Given the description of an element on the screen output the (x, y) to click on. 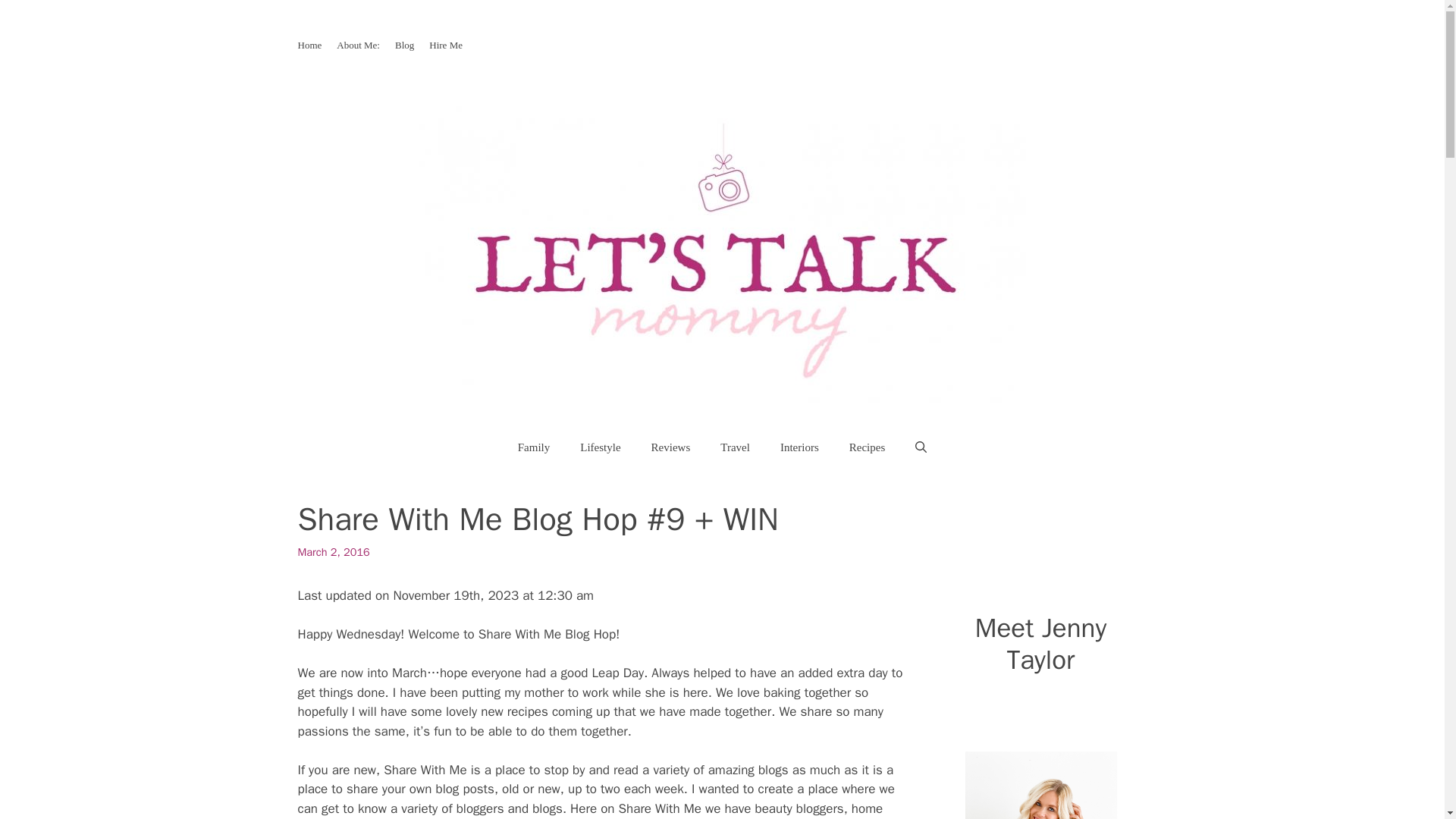
Hire Me (446, 44)
Interiors (799, 447)
Lily Blanche Butterfly Locket (1039, 785)
About Me: (358, 44)
Family (534, 447)
Blog (403, 44)
Lifestyle (599, 447)
Recipes (866, 447)
Home (309, 44)
Travel (734, 447)
Reviews (671, 447)
